Given the description of an element on the screen output the (x, y) to click on. 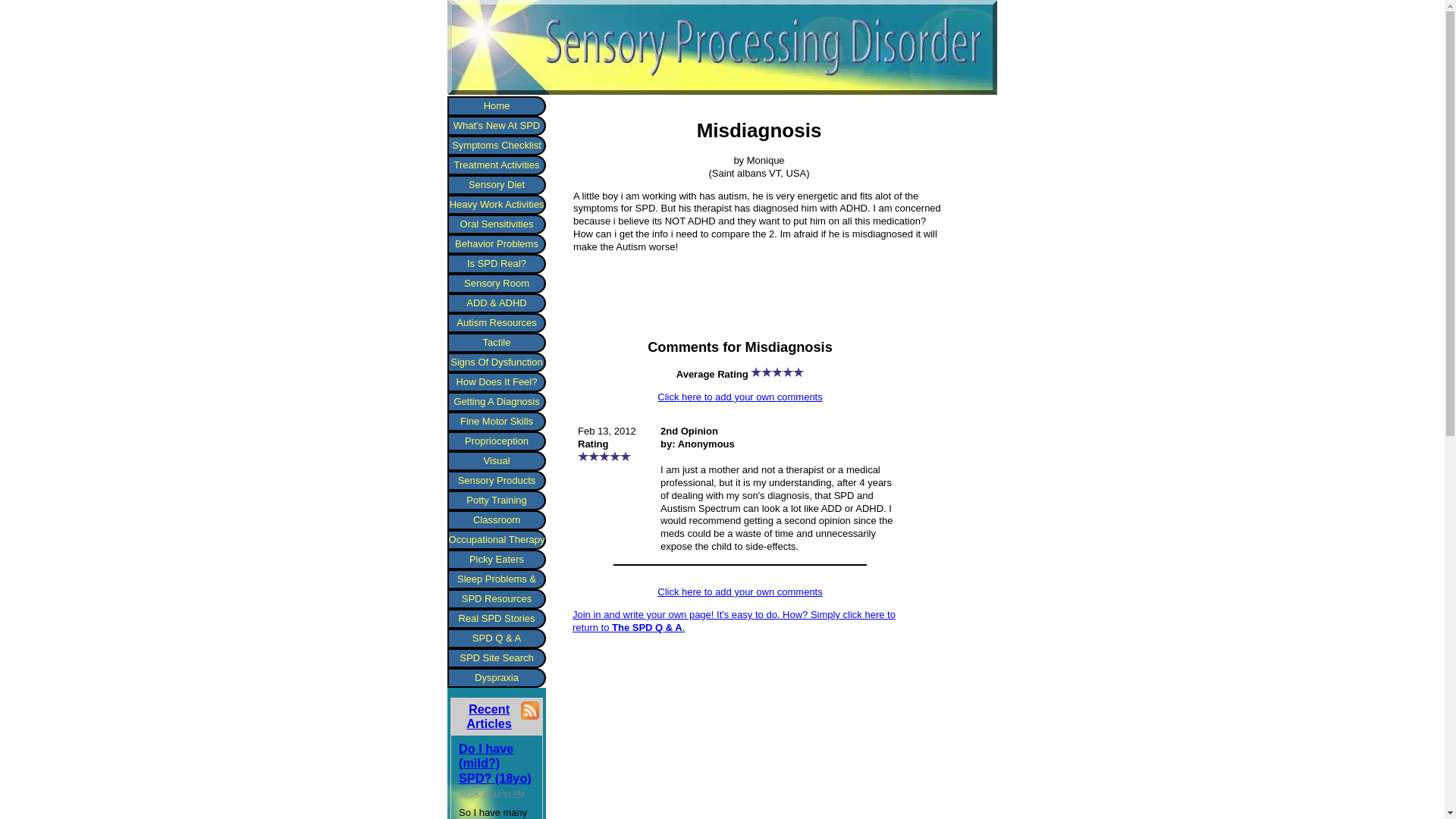
2024-07-24T12:51:03-0400 (491, 793)
Symptoms Checklist (496, 145)
Treatment Activities (496, 165)
Tactile Overresponsivity (496, 342)
Behavior Problems (496, 243)
Oral Sensitivities (496, 224)
SPD Resources (496, 598)
Dyspraxia (496, 677)
Click here to add your own comments (740, 396)
Classroom (496, 519)
What's New At SPD (496, 125)
How Does It Feel? (496, 382)
Is SPD Real? (496, 263)
Click here to add your own comments (740, 591)
Potty Training (496, 500)
